Given the description of an element on the screen output the (x, y) to click on. 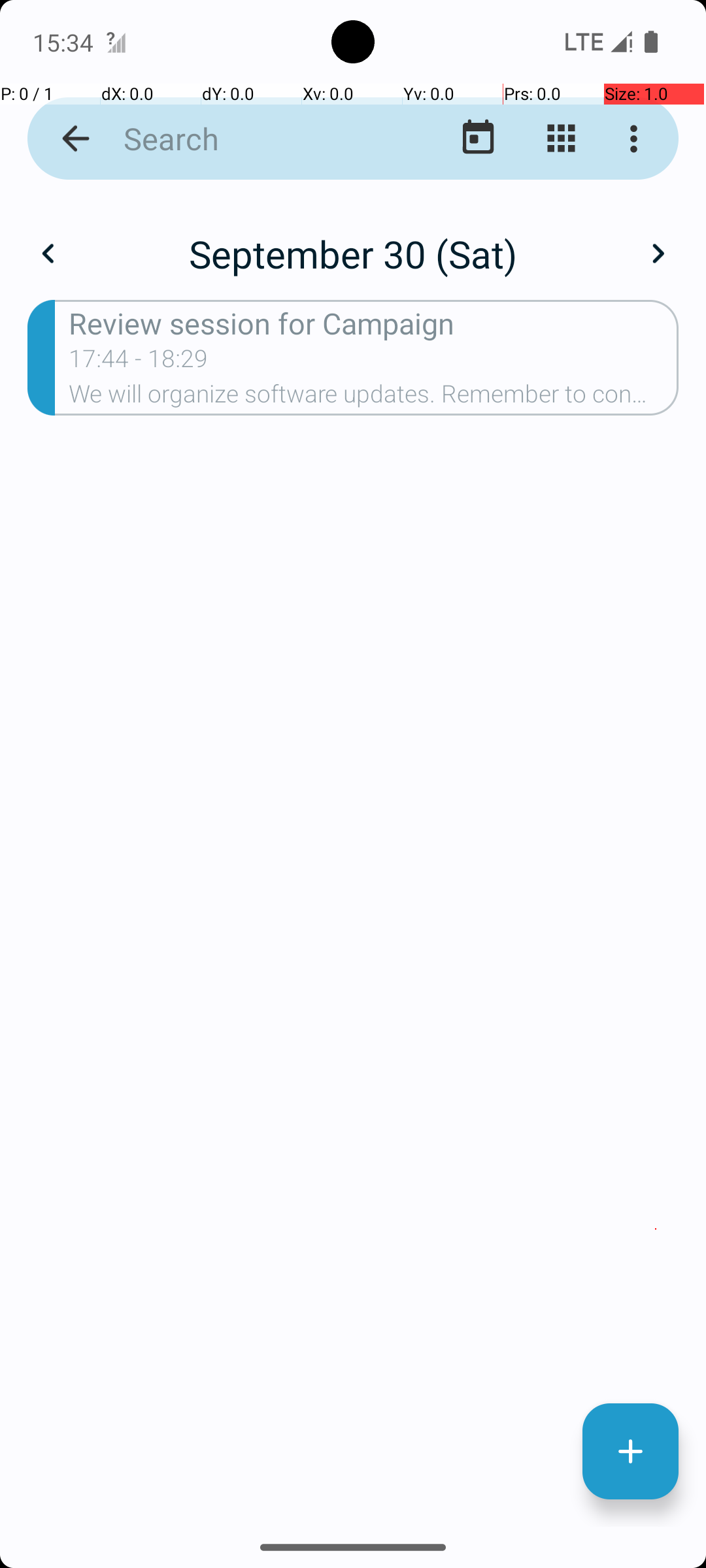
September 30 (Sat) Element type: android.widget.TextView (352, 253)
17:44 - 18:29 Element type: android.widget.TextView (137, 362)
We will organize software updates. Remember to confirm attendance. Element type: android.widget.TextView (373, 397)
